Given the description of an element on the screen output the (x, y) to click on. 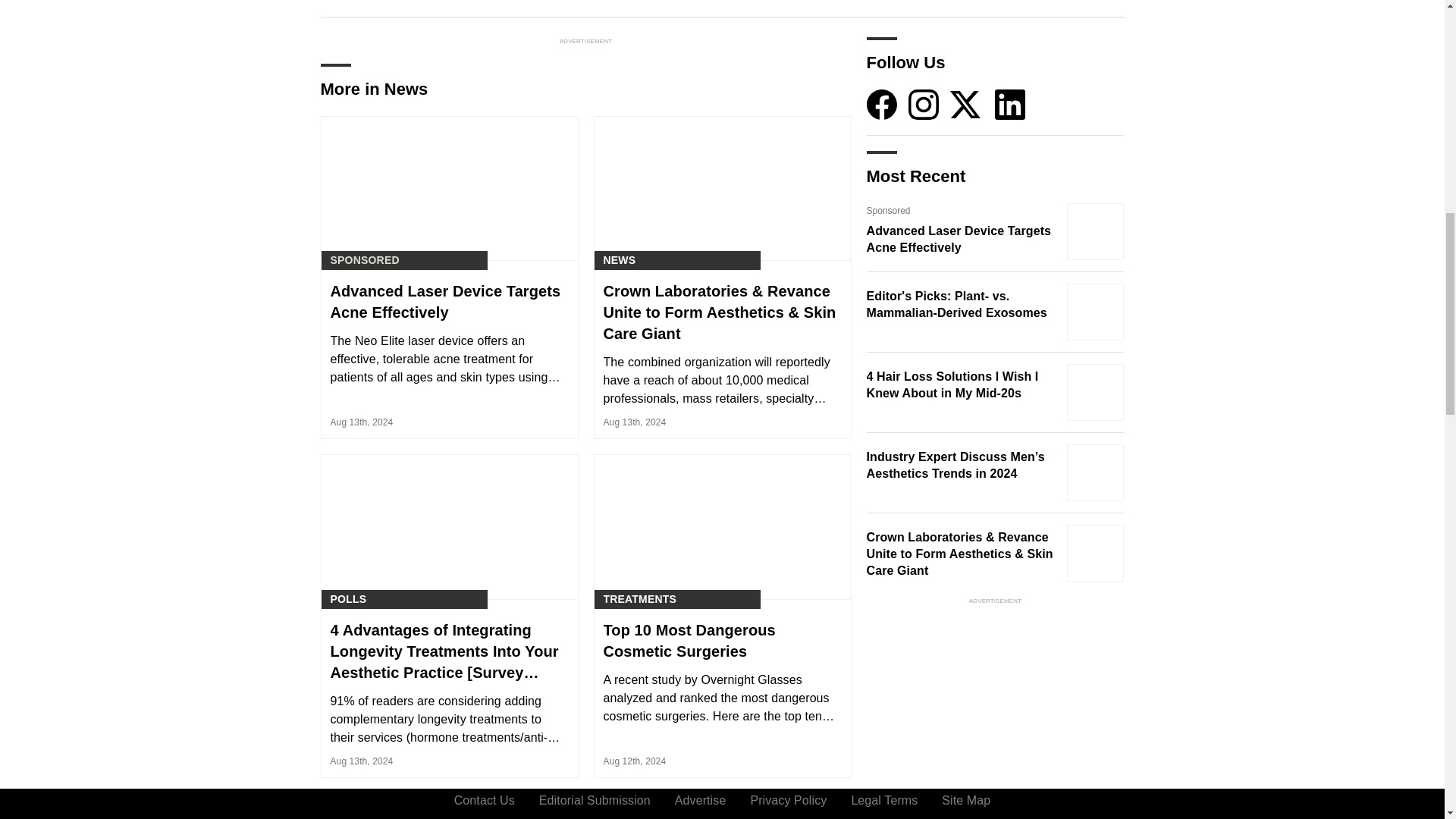
LinkedIn icon (1009, 104)
Sponsored (364, 260)
Twitter X icon (964, 104)
Facebook icon (881, 104)
Instagram icon (923, 104)
